Given the description of an element on the screen output the (x, y) to click on. 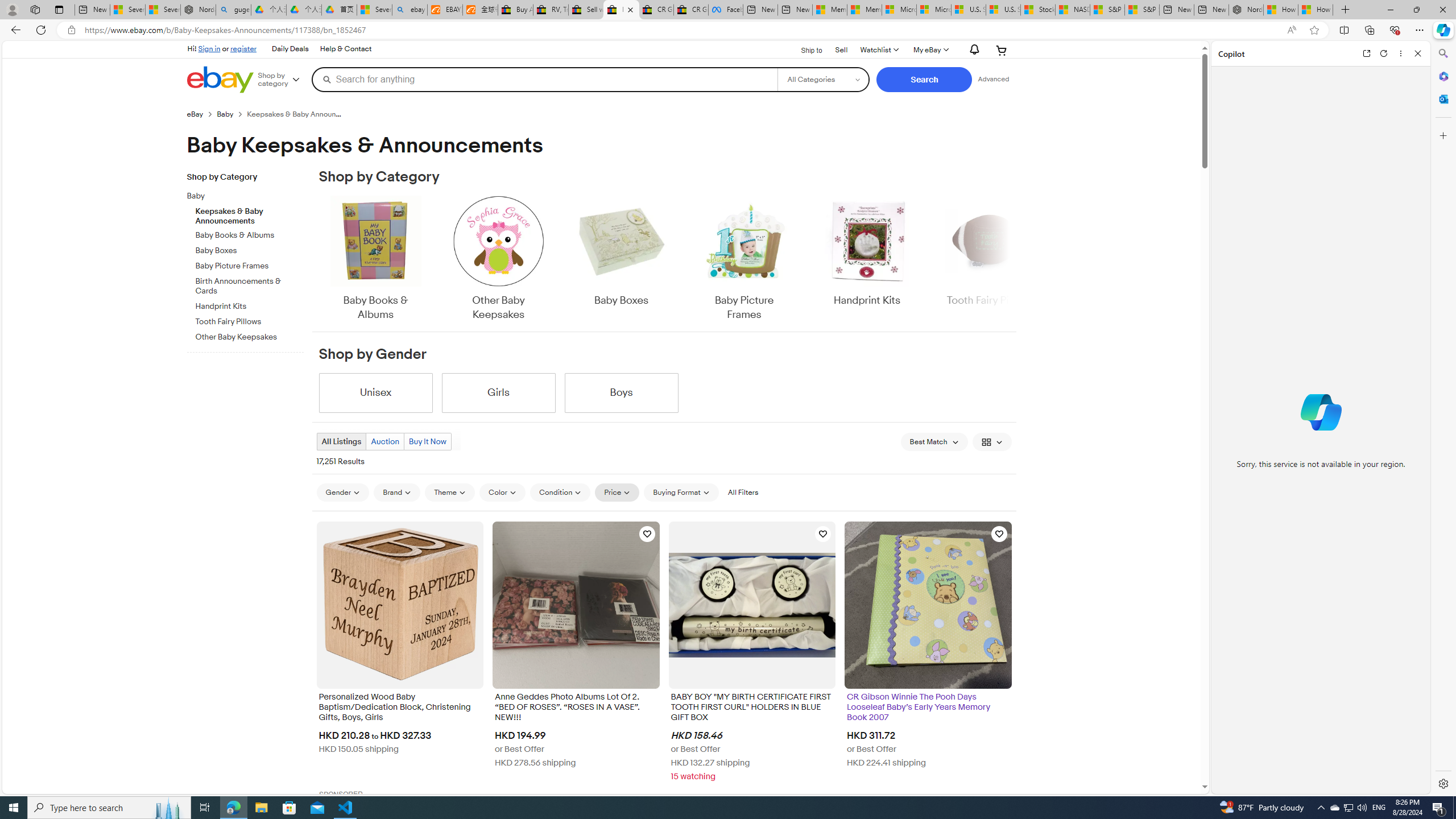
Handprint Kits (866, 251)
Customize (1442, 135)
